Given the description of an element on the screen output the (x, y) to click on. 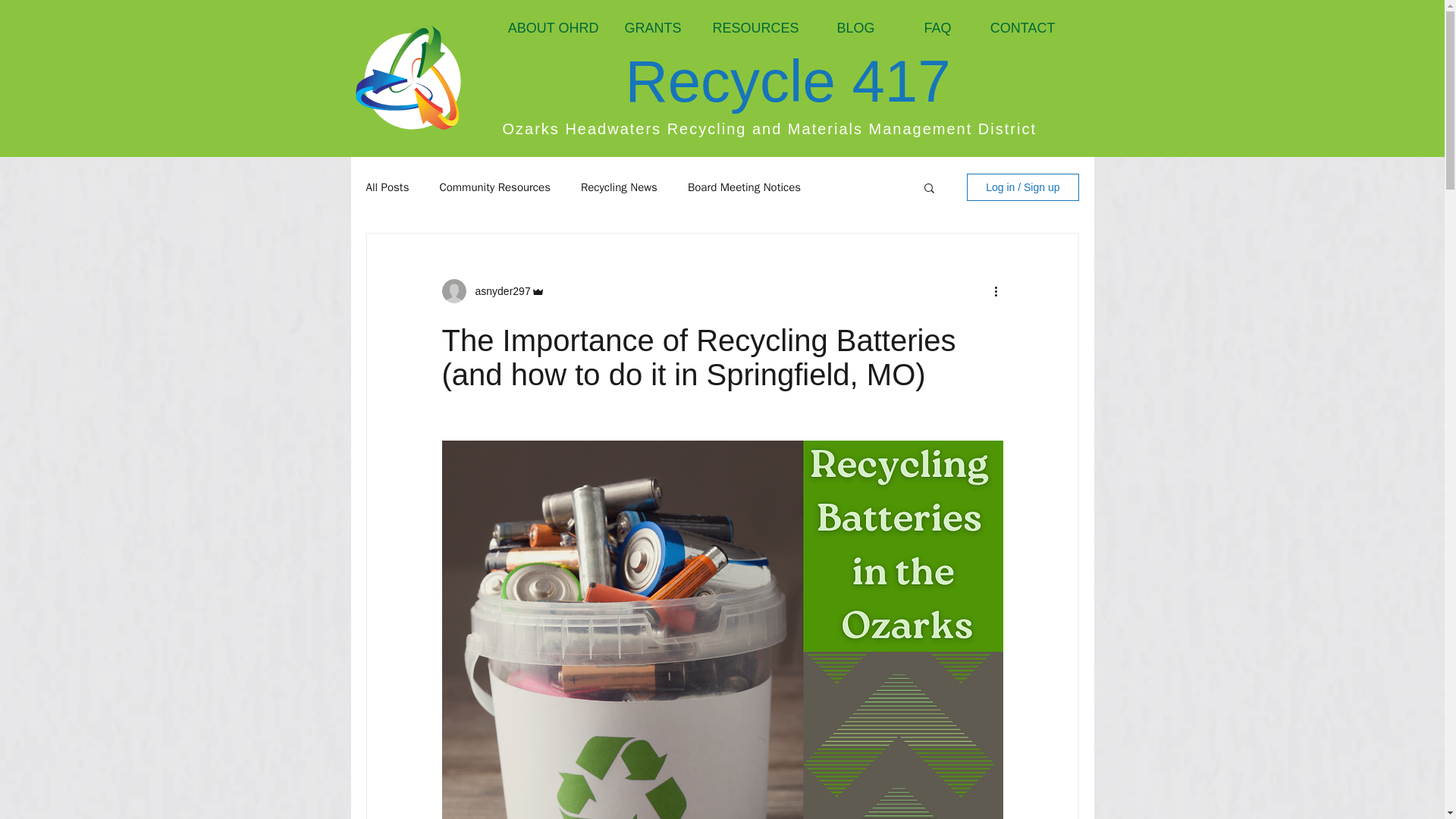
ABOUT OHRD (550, 28)
Recycling News (619, 187)
BLOG (855, 28)
Community Resources (494, 187)
GRANTS (652, 28)
FAQ (930, 28)
Board Meeting Notices (743, 187)
CONTACT (1020, 28)
RESOURCES (755, 28)
All Posts (387, 187)
Recycle 417 (787, 81)
asnyder297 (497, 291)
